Given the description of an element on the screen output the (x, y) to click on. 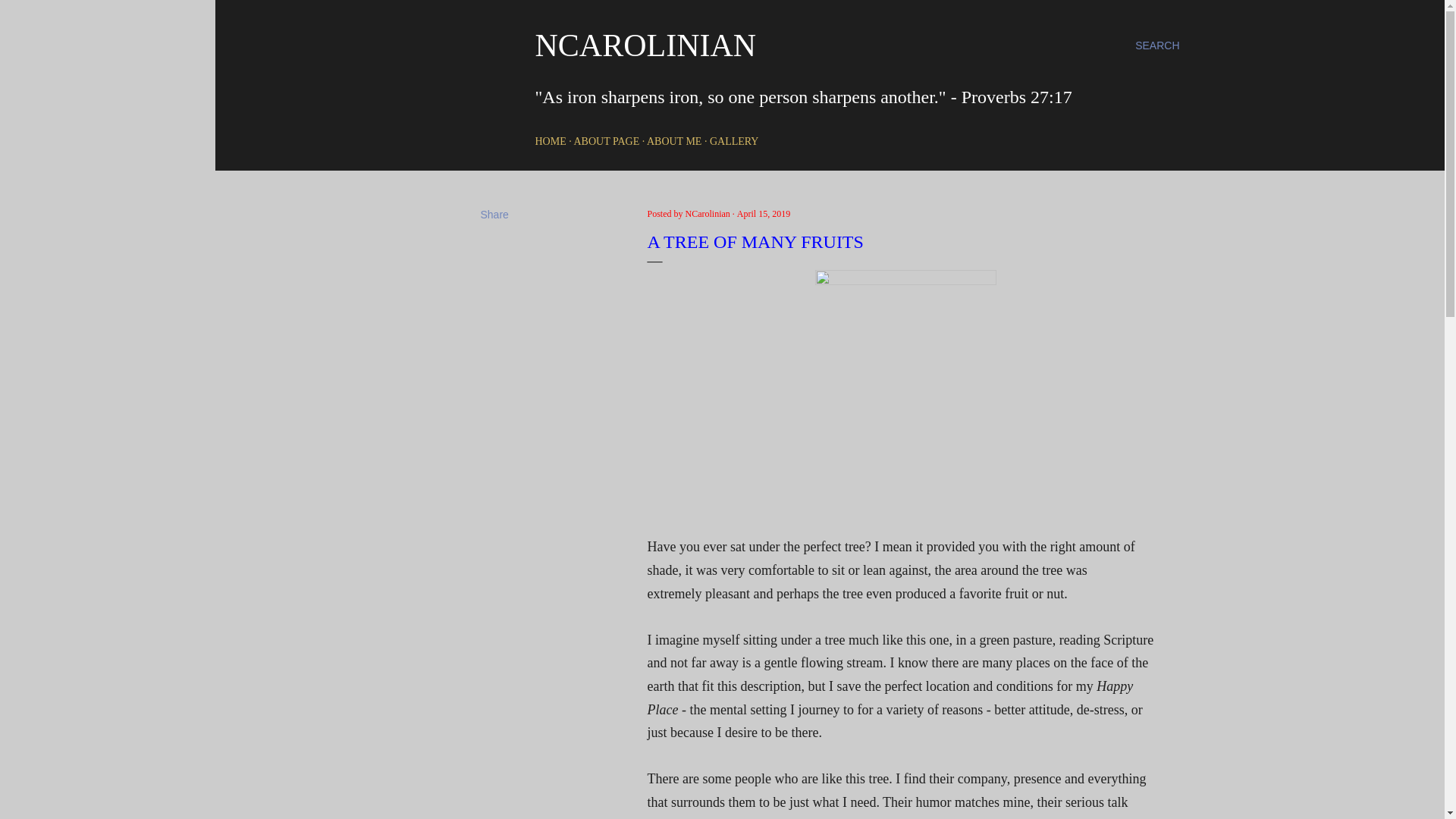
SEARCH (1157, 45)
HOME (550, 141)
NCarolinian (708, 213)
permanent link (763, 213)
Share (494, 214)
April 15, 2019 (763, 213)
NCAROLINIAN (646, 45)
ABOUT ME (673, 141)
GALLERY (734, 141)
author profile (708, 213)
